Given the description of an element on the screen output the (x, y) to click on. 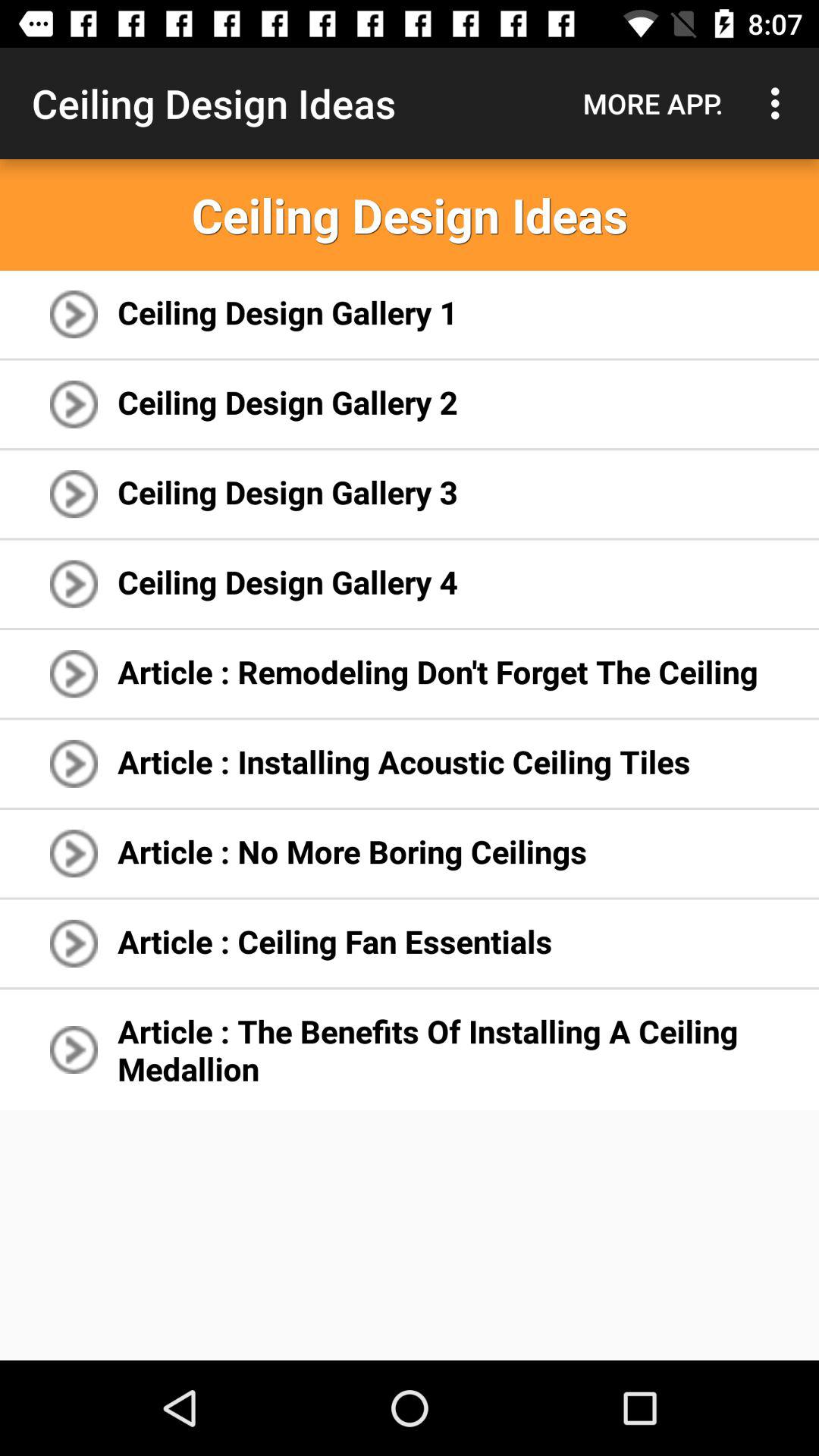
choose icon next to ceiling design ideas (653, 103)
